Given the description of an element on the screen output the (x, y) to click on. 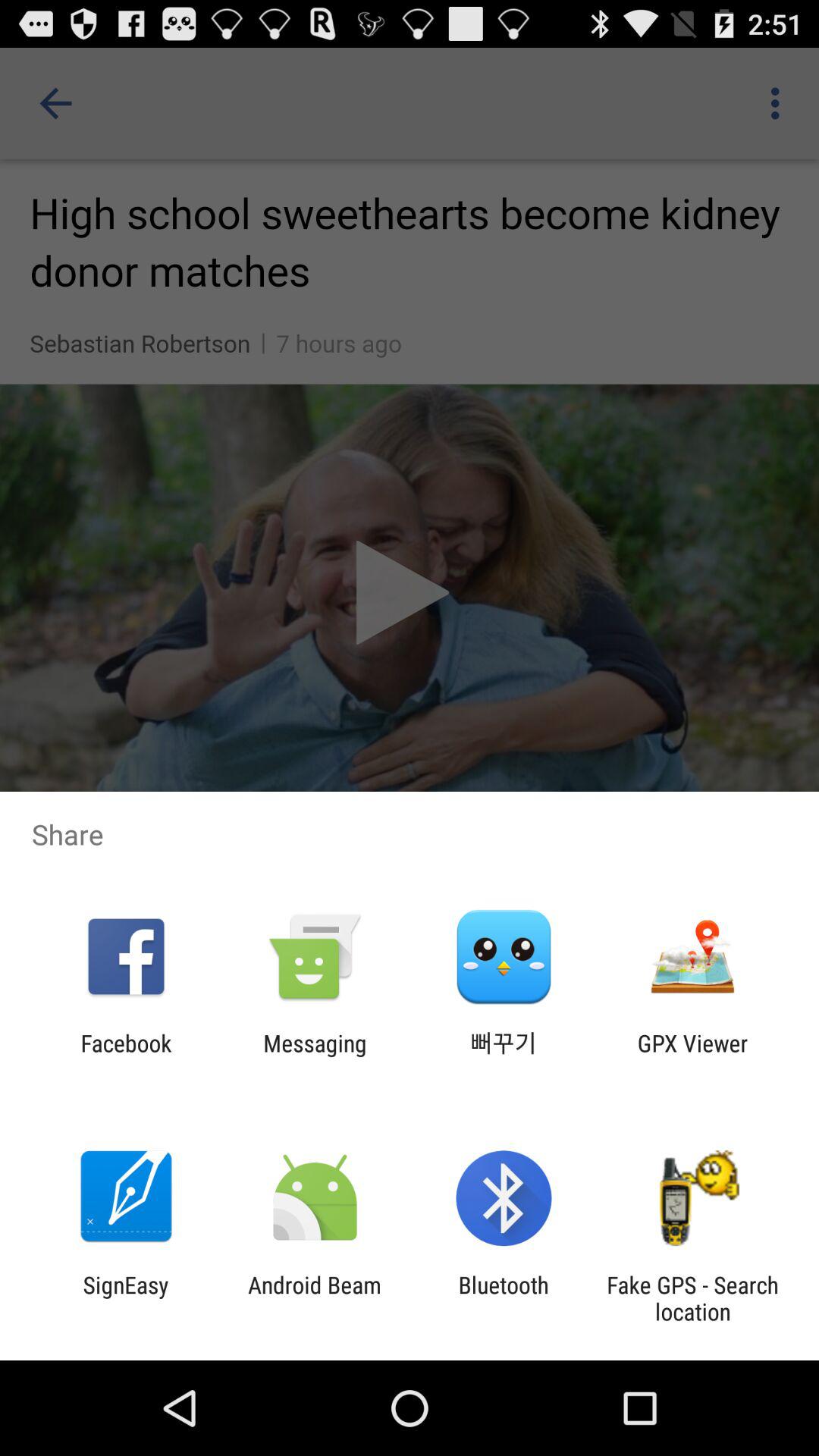
scroll to the android beam icon (314, 1298)
